Given the description of an element on the screen output the (x, y) to click on. 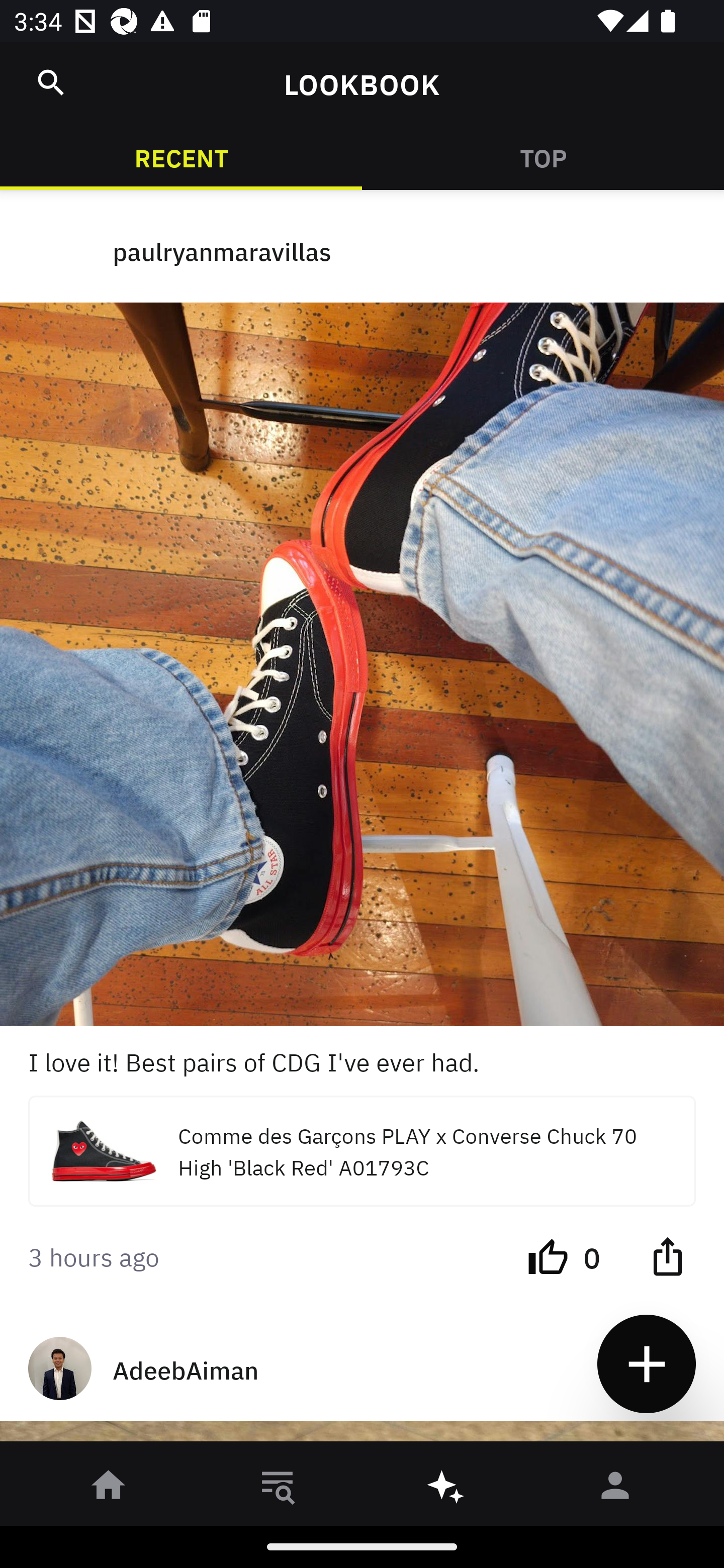
 (51, 82)
RECENT (181, 156)
TOP (543, 156)
I love it! Best pairs of CDG I've ever had. (362, 1060)
󰔔 (547, 1255)
 (667, 1255)
󰋜 (108, 1488)
󱎸 (277, 1488)
󰫢 (446, 1488)
󰀄 (615, 1488)
